Given the description of an element on the screen output the (x, y) to click on. 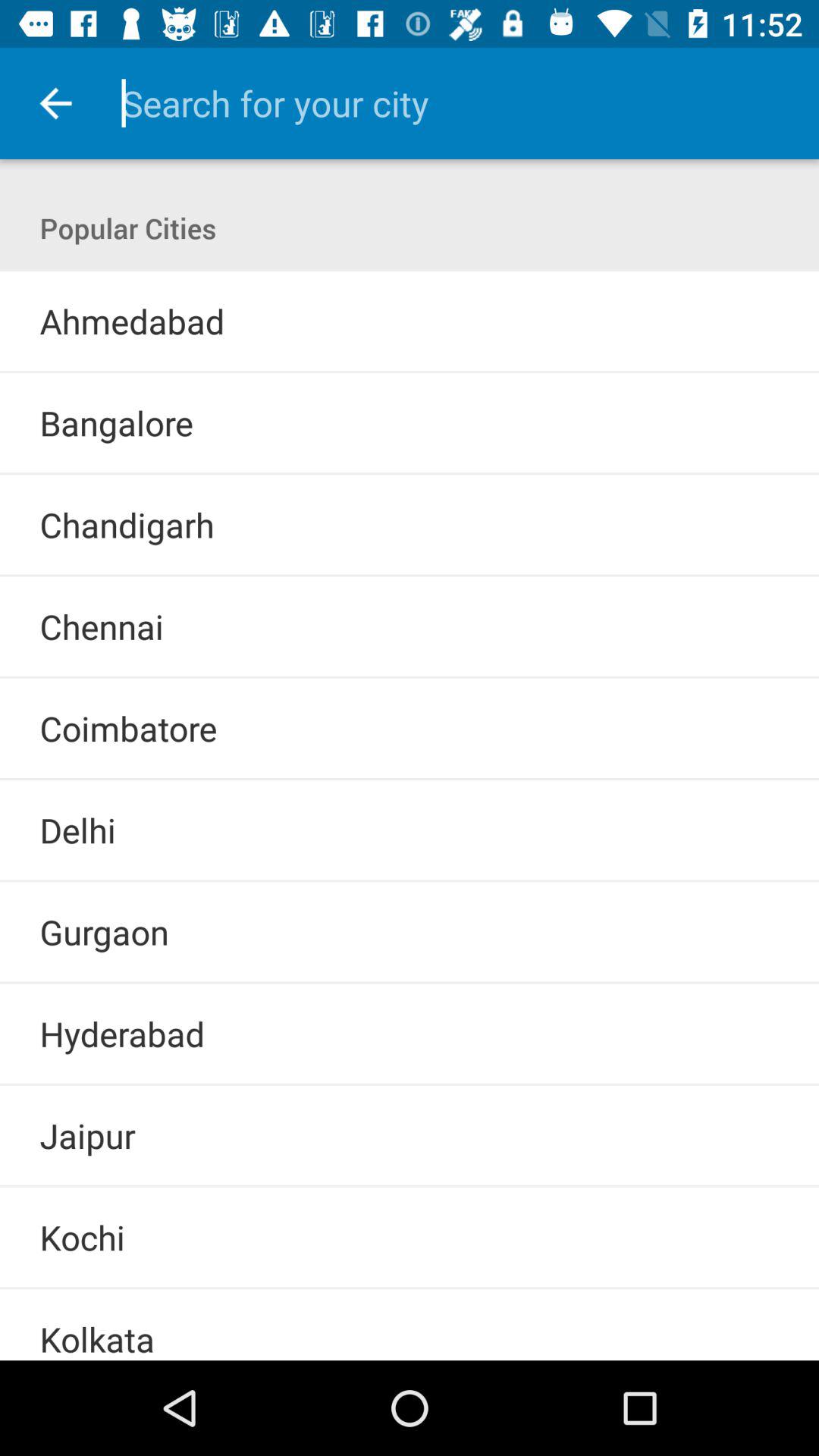
click the item below the gurgaon item (409, 982)
